Given the description of an element on the screen output the (x, y) to click on. 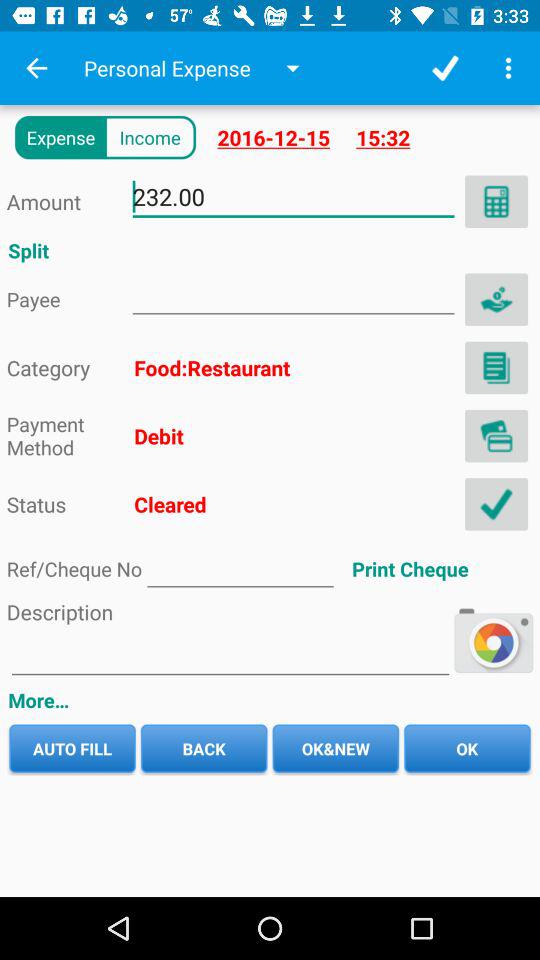
icon button (496, 299)
